Given the description of an element on the screen output the (x, y) to click on. 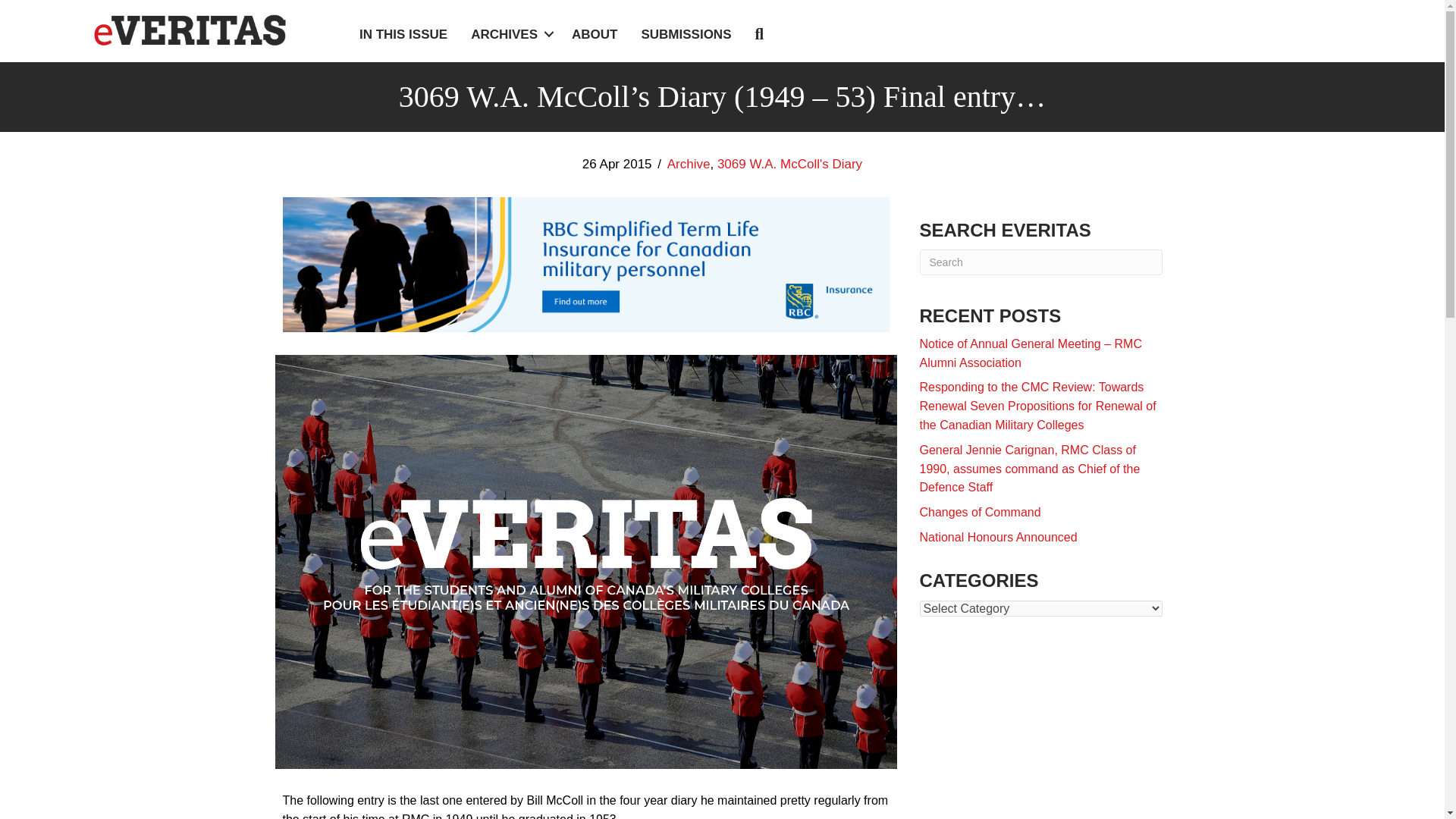
Type and press Enter to search. (1039, 262)
Archive (688, 164)
SEARCH (761, 34)
National Honours Announced (997, 536)
Changes of Command (979, 512)
IN THIS ISSUE (402, 34)
3069 W.A. McColl's Diary (789, 164)
ARCHIVES (509, 34)
